Given the description of an element on the screen output the (x, y) to click on. 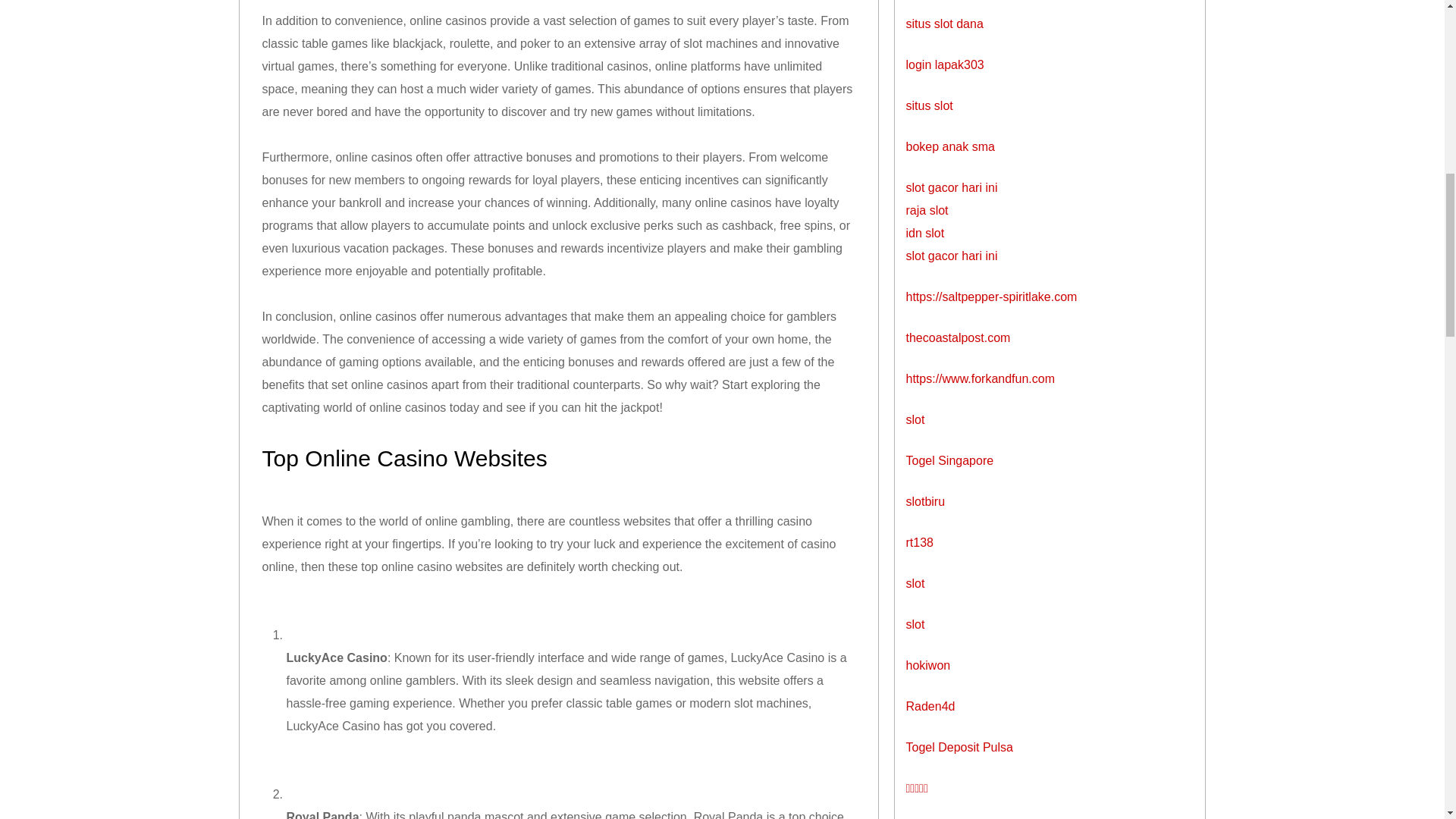
bokep anak sma (949, 146)
situs slot dana (943, 23)
login lapak303 (944, 64)
situs slot (928, 105)
